Given the description of an element on the screen output the (x, y) to click on. 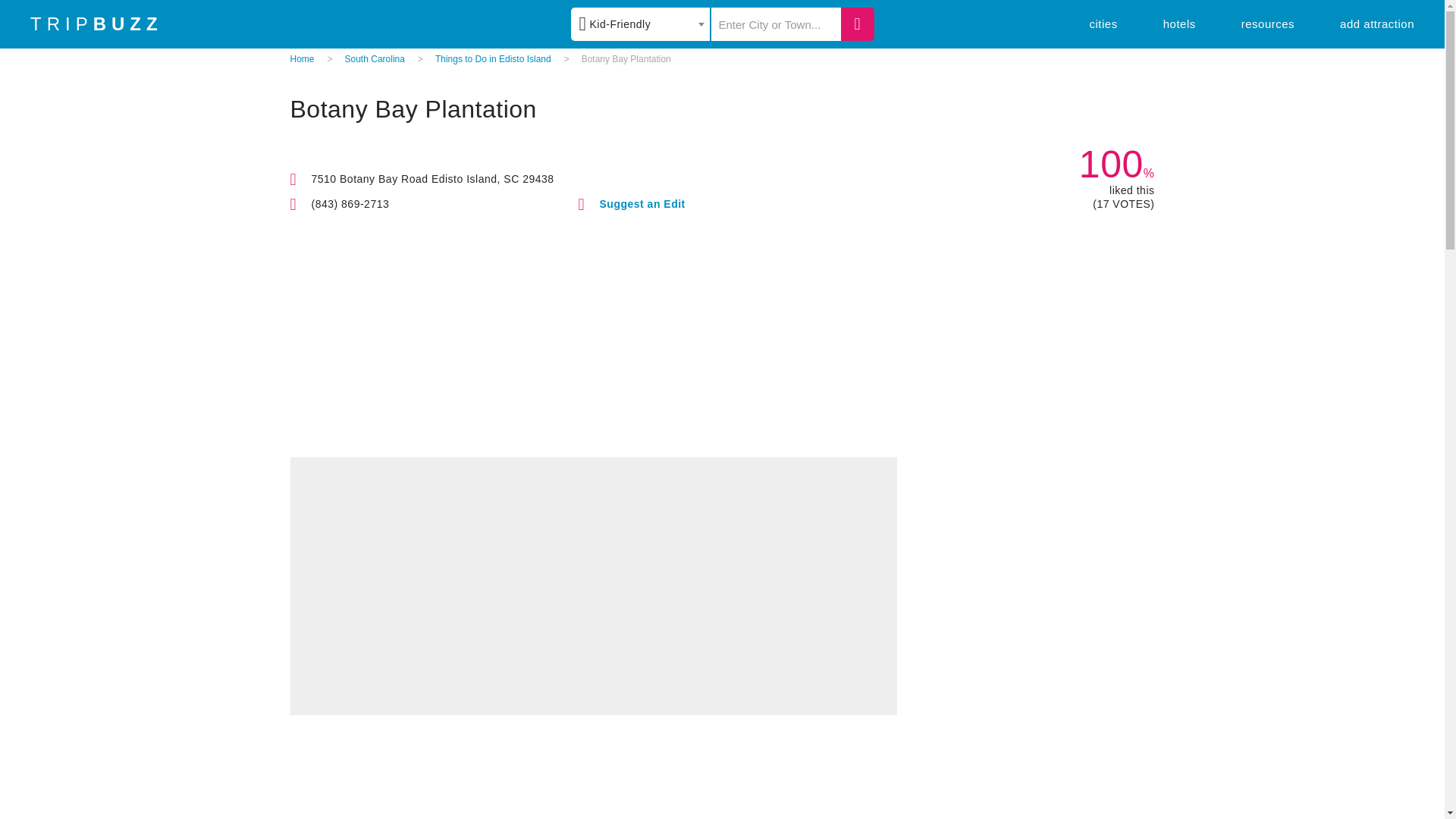
cities (1103, 23)
add attraction (1376, 23)
Advertisement (721, 784)
resources (1267, 23)
South Carolina (374, 59)
Things to Do in Edisto Island (493, 59)
hotels (1179, 23)
hotels (1179, 23)
Home (301, 59)
